Given the description of an element on the screen output the (x, y) to click on. 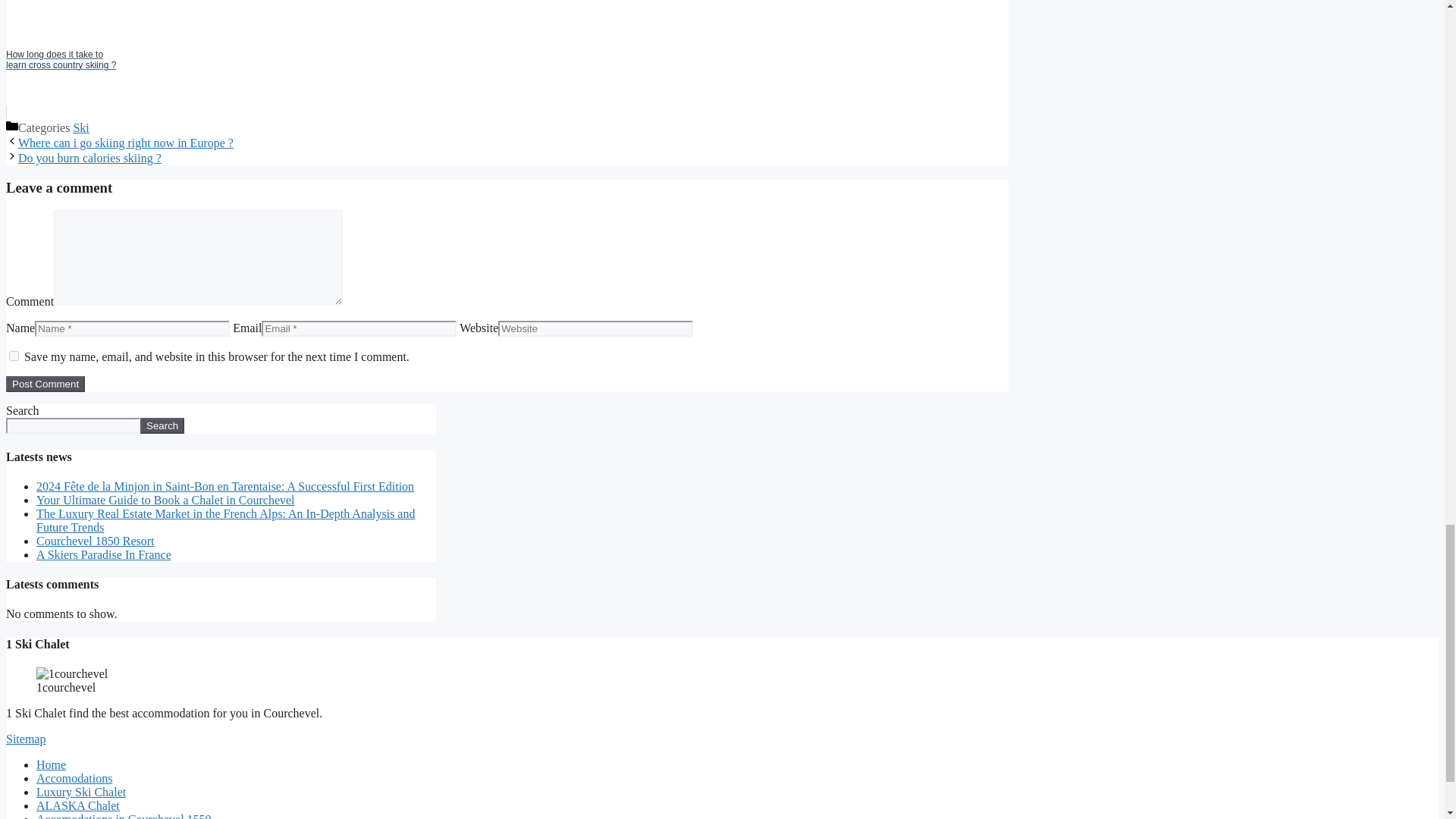
Do you burn calories skiing ? (89, 157)
Accomodations (74, 778)
Post Comment (44, 383)
A Skiers Paradise In France (103, 554)
Luxury Ski Chalet (80, 791)
Home (50, 764)
ALASKA Chalet (77, 805)
Your Ultimate Guide to Book a Chalet in Courchevel (165, 499)
Sitemap (25, 738)
How long does it take to learn cross country skiing ? (507, 59)
Search (161, 425)
Post Comment (44, 383)
Where can i go skiing right now in Europe ? (124, 142)
yes (13, 356)
